Given the description of an element on the screen output the (x, y) to click on. 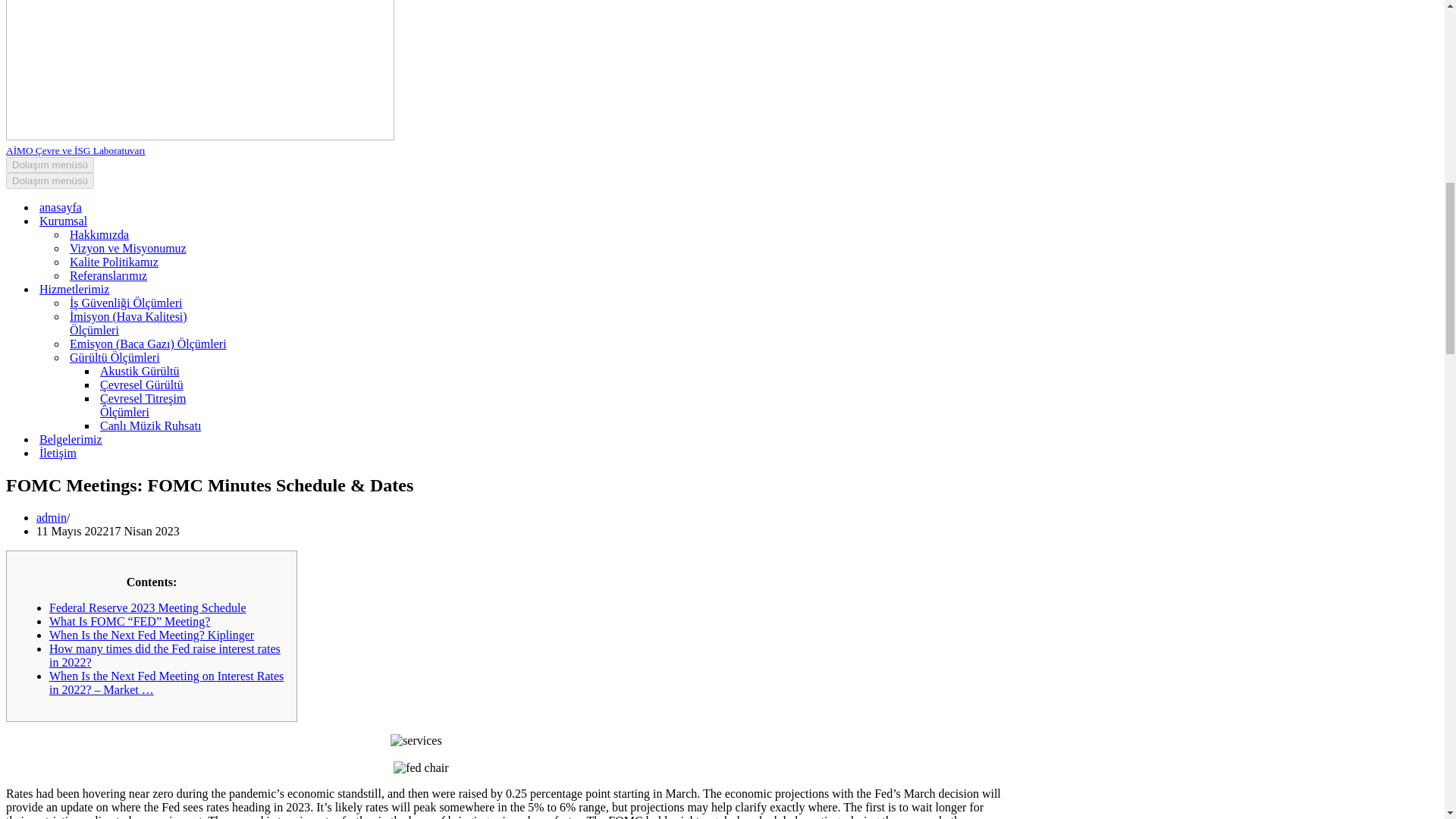
Kurumsal (170, 221)
Hizmetlerimiz (170, 289)
anasayfa (157, 207)
Vizyon ve Misyonumuz (172, 248)
